Given the description of an element on the screen output the (x, y) to click on. 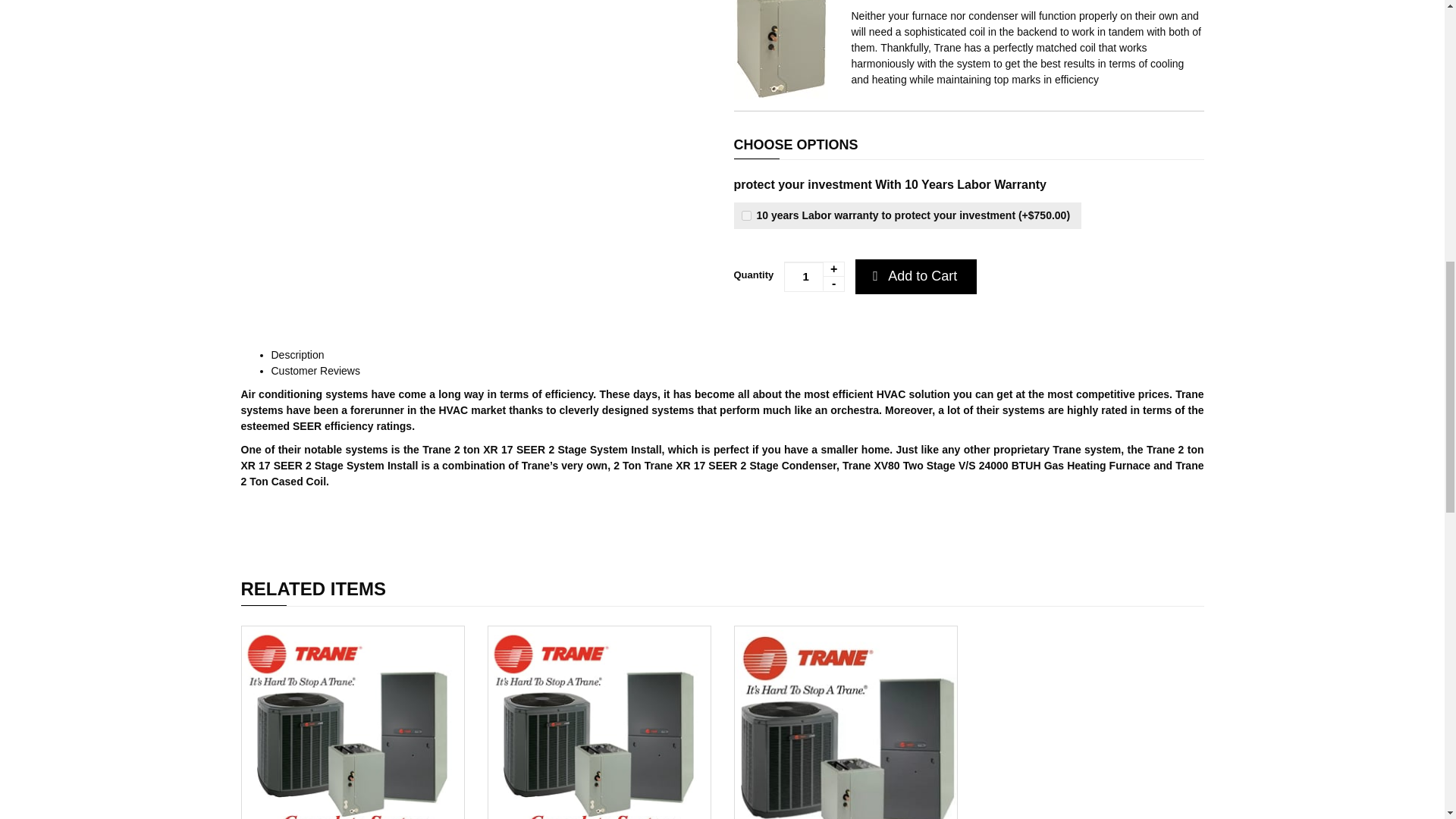
2 ton trane coil (780, 49)
1 (814, 276)
